Given the description of an element on the screen output the (x, y) to click on. 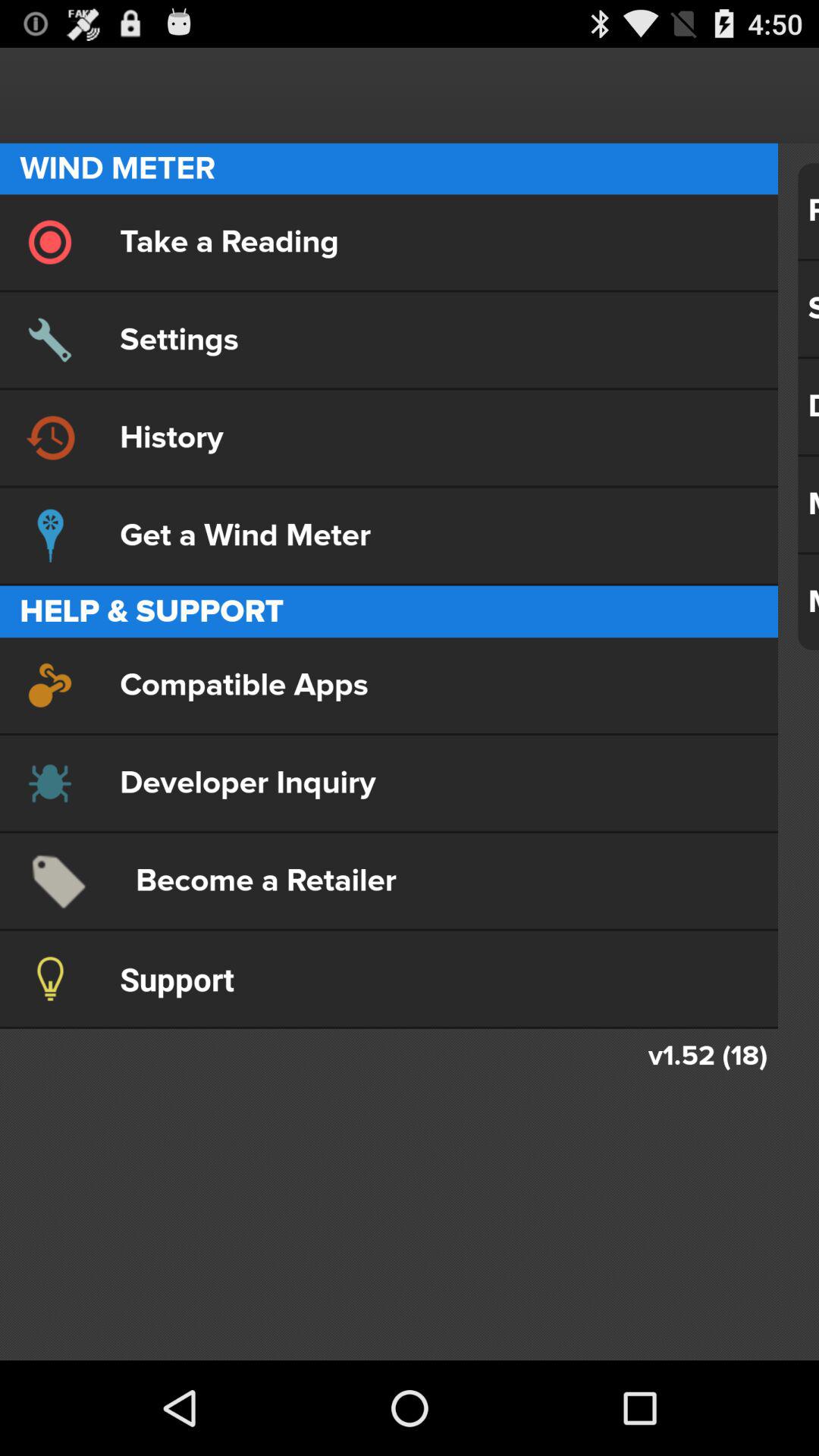
jump to settings item (389, 339)
